Given the description of an element on the screen output the (x, y) to click on. 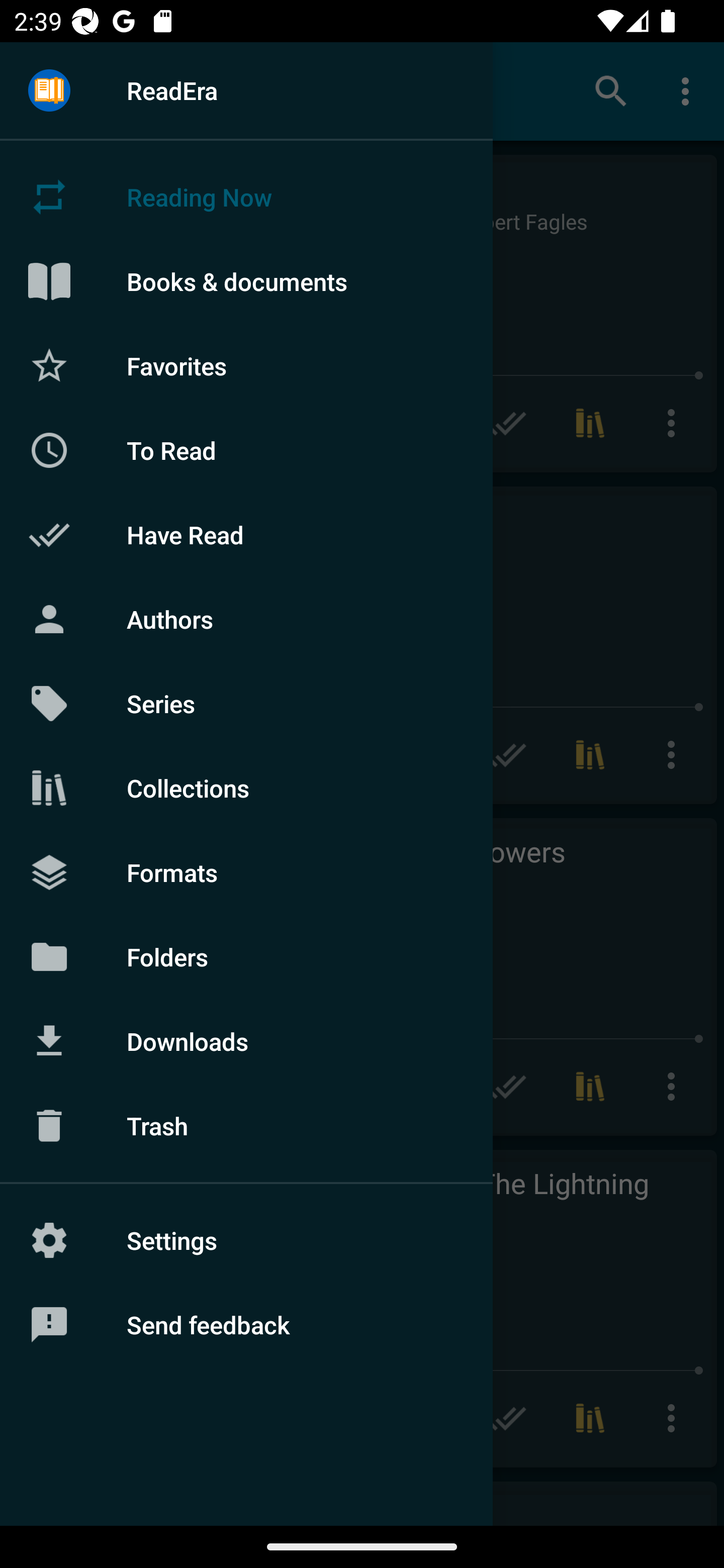
Menu (49, 91)
ReadEra (246, 89)
Search books & documents (611, 90)
More options (688, 90)
Reading Now (246, 197)
Books & documents (246, 281)
Favorites (246, 365)
To Read (246, 449)
Have Read (246, 534)
Authors (246, 619)
Series (246, 703)
Collections (246, 787)
Formats (246, 871)
Folders (246, 956)
Downloads (246, 1040)
Trash (246, 1125)
Settings (246, 1239)
Send feedback (246, 1324)
